Given the description of an element on the screen output the (x, y) to click on. 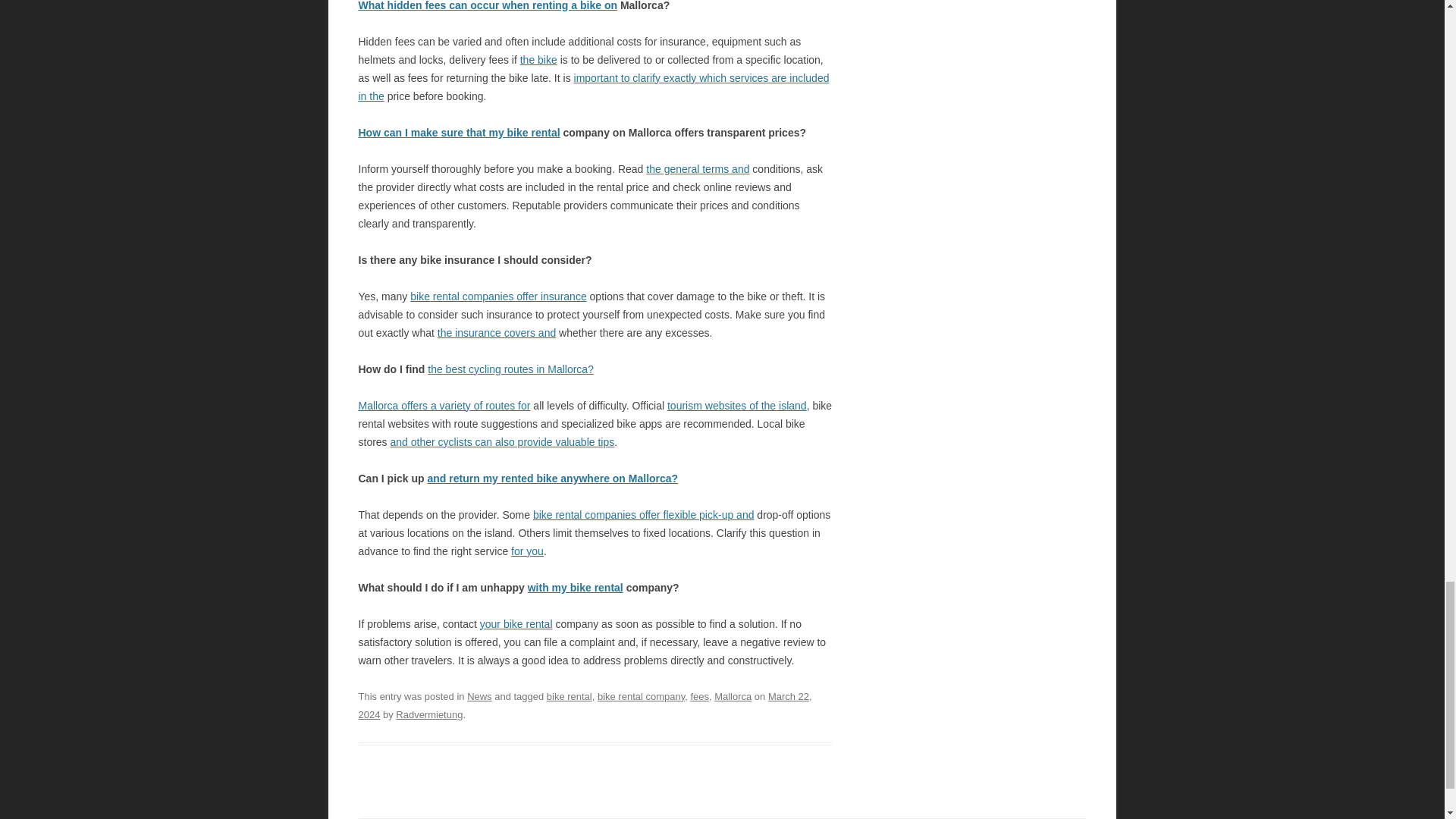
9:39 am (584, 705)
View all posts by Radvermietung (429, 714)
the general terms and (697, 168)
bike rental companies offer insurance (498, 296)
the bike (538, 60)
What hidden fees can occur when renting a bike on (487, 5)
How can I make sure that my bike rental (458, 132)
